Given the description of an element on the screen output the (x, y) to click on. 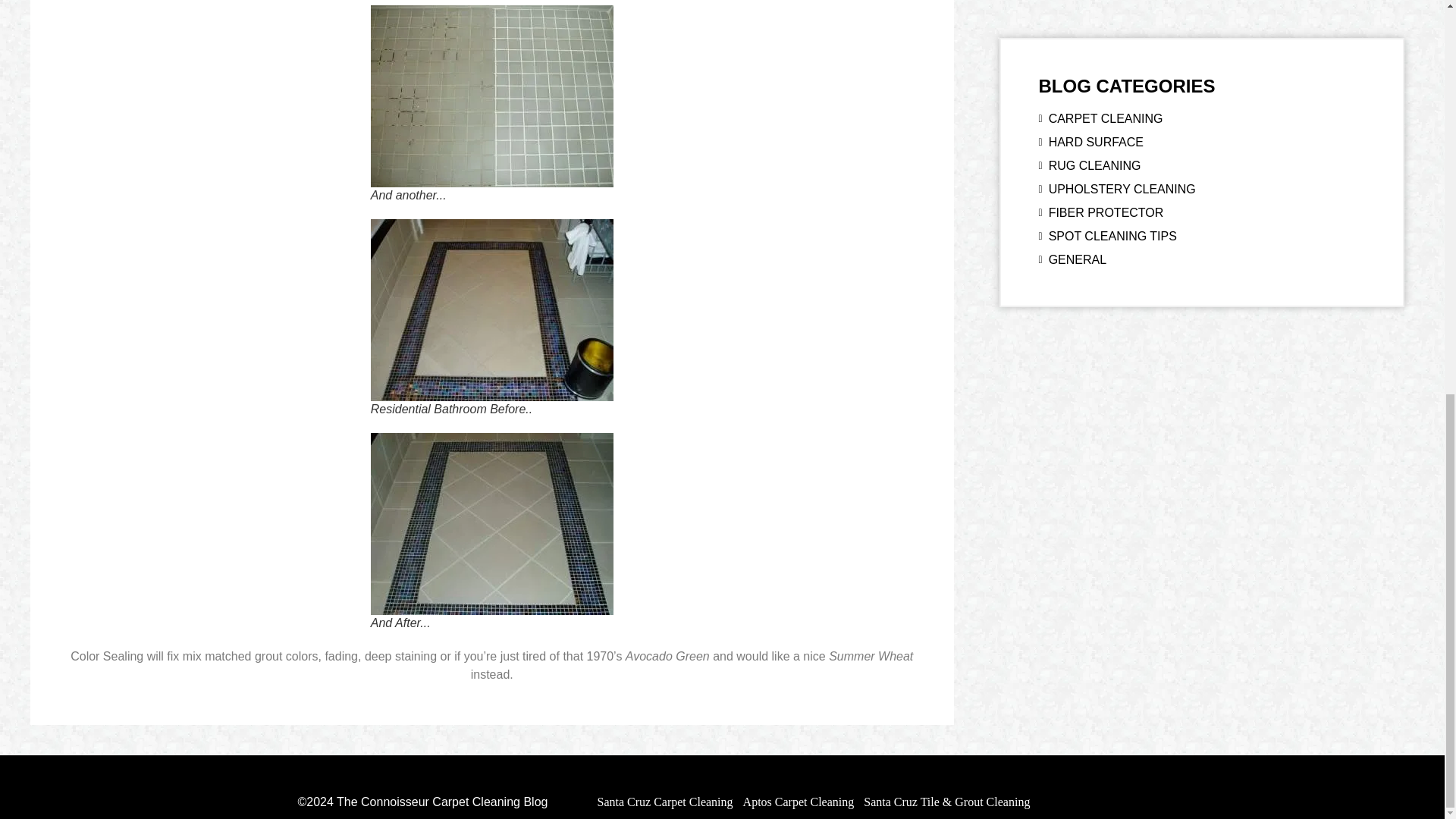
Santa Cruz Carpet Cleaning (664, 801)
Aptos Carpet Cleaning (798, 801)
